Given the description of an element on the screen output the (x, y) to click on. 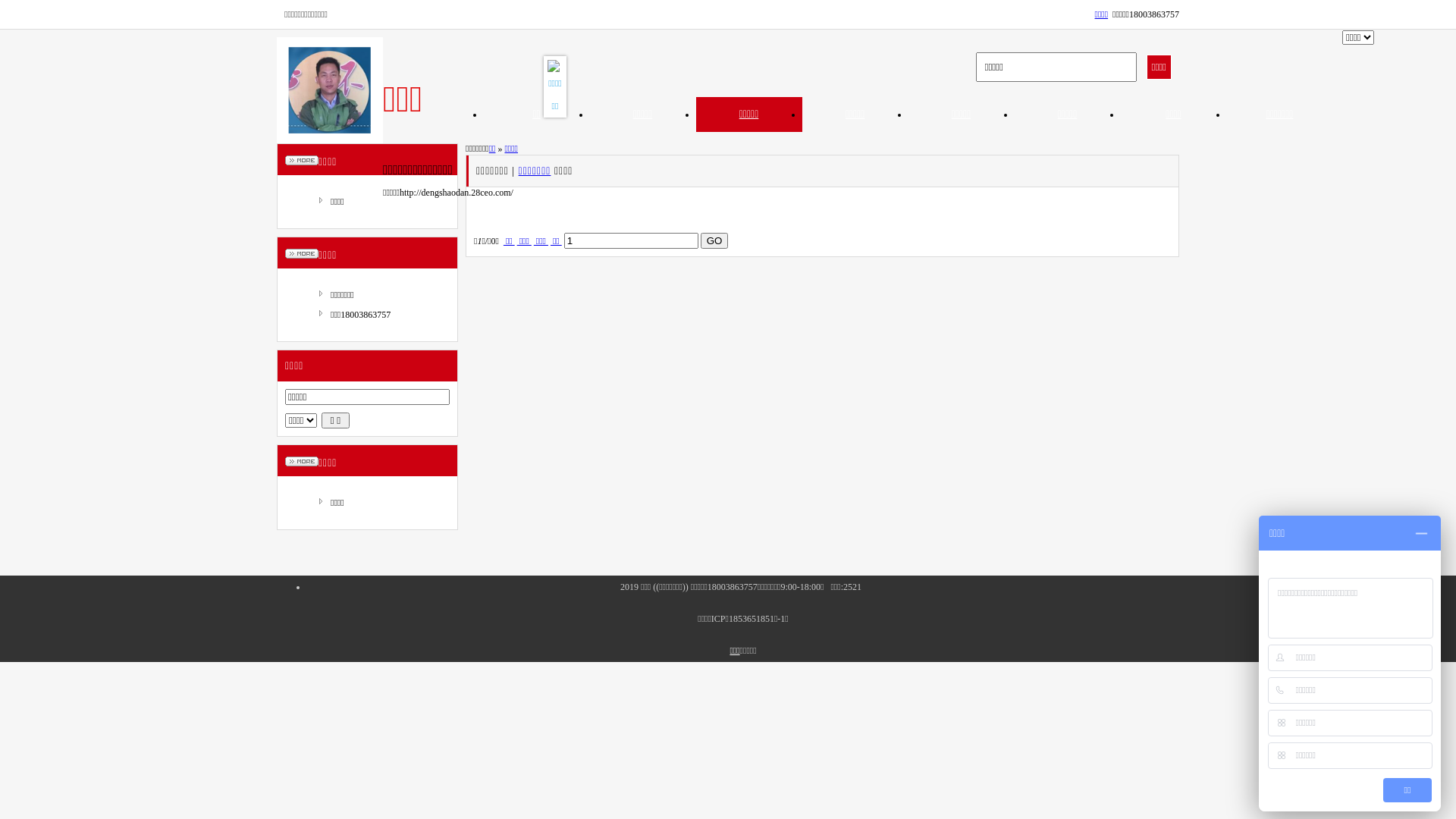
GO Element type: text (714, 240)
